Given the description of an element on the screen output the (x, y) to click on. 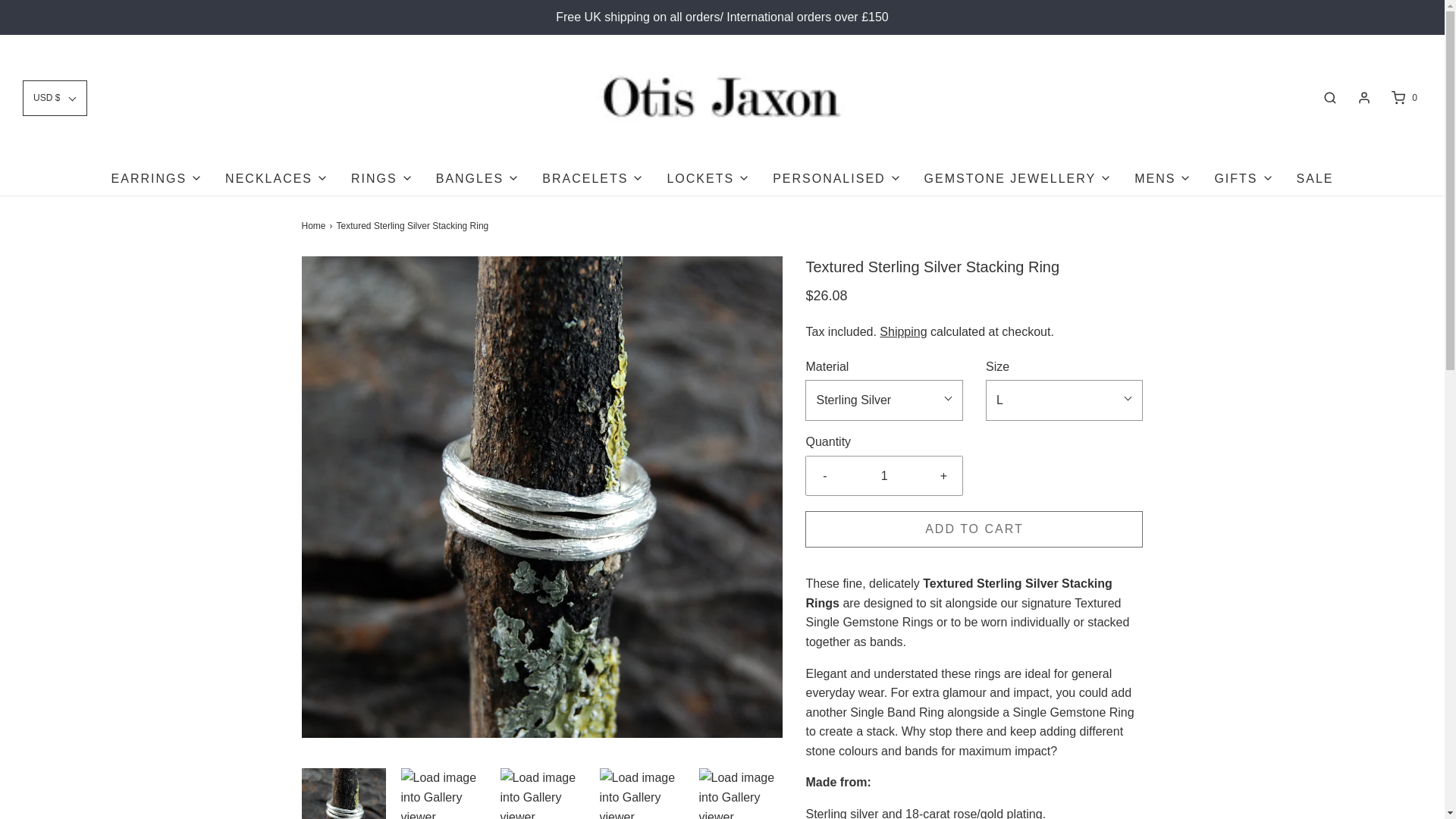
1 (884, 476)
Cart (1403, 97)
Log in (1364, 97)
Back to the frontpage (315, 226)
Search (1329, 97)
